Given the description of an element on the screen output the (x, y) to click on. 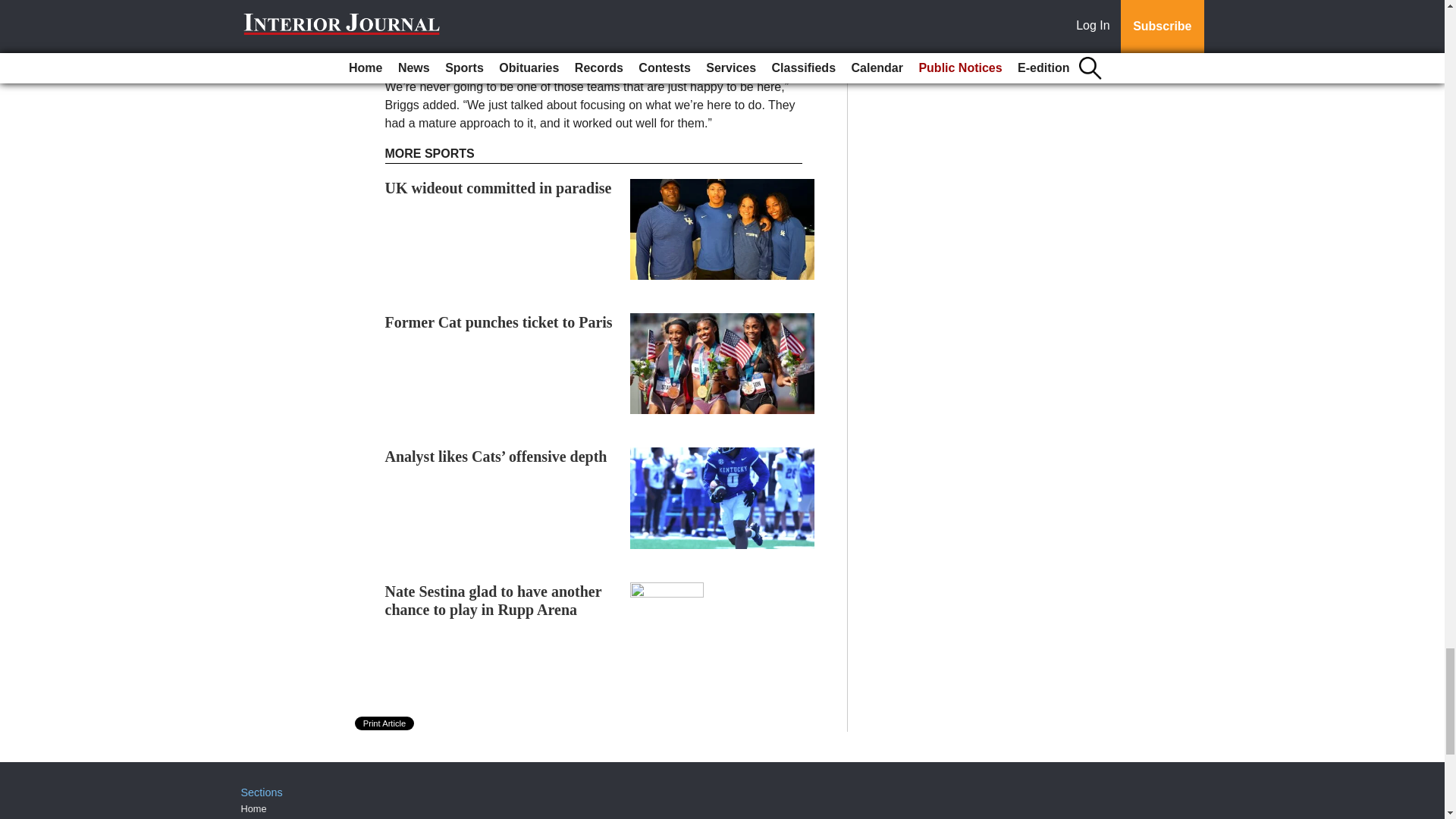
News (252, 818)
Print Article (384, 723)
Home (253, 808)
Former Cat punches ticket to Paris (498, 321)
Former Cat punches ticket to Paris (498, 321)
UK wideout committed in paradise (498, 187)
UK wideout committed in paradise (498, 187)
